Given the description of an element on the screen output the (x, y) to click on. 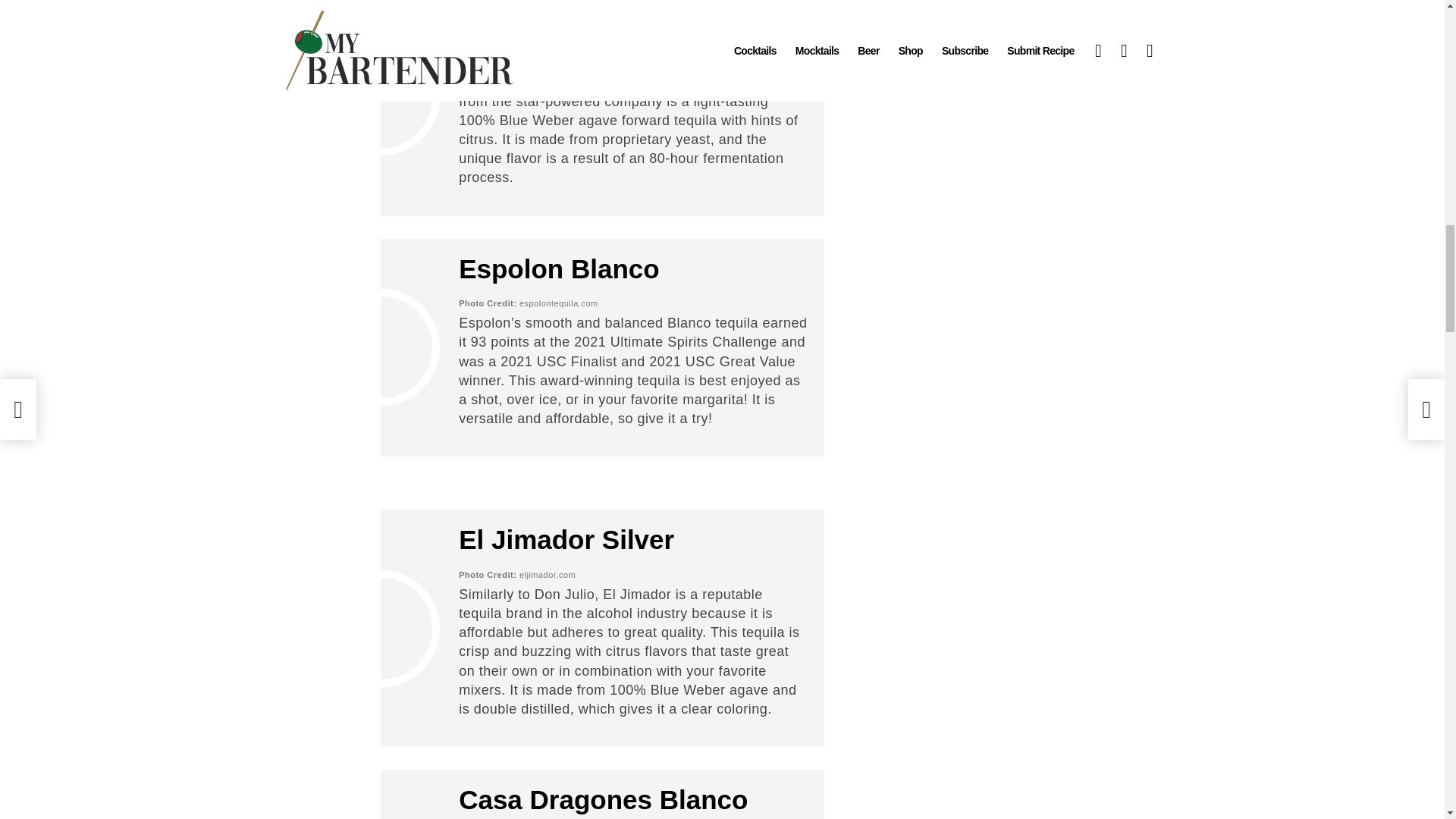
Casamigos Blanco (576, 11)
10 Must-Try Blanco Tequilas 6 (381, 628)
Casa Dragones Blanco (603, 799)
Espolon Blanco (558, 268)
El Jimador Silver (566, 539)
10 Must-Try Blanco Tequilas 5 (381, 347)
10 Must-Try Blanco Tequilas 4 (381, 96)
